Given the description of an element on the screen output the (x, y) to click on. 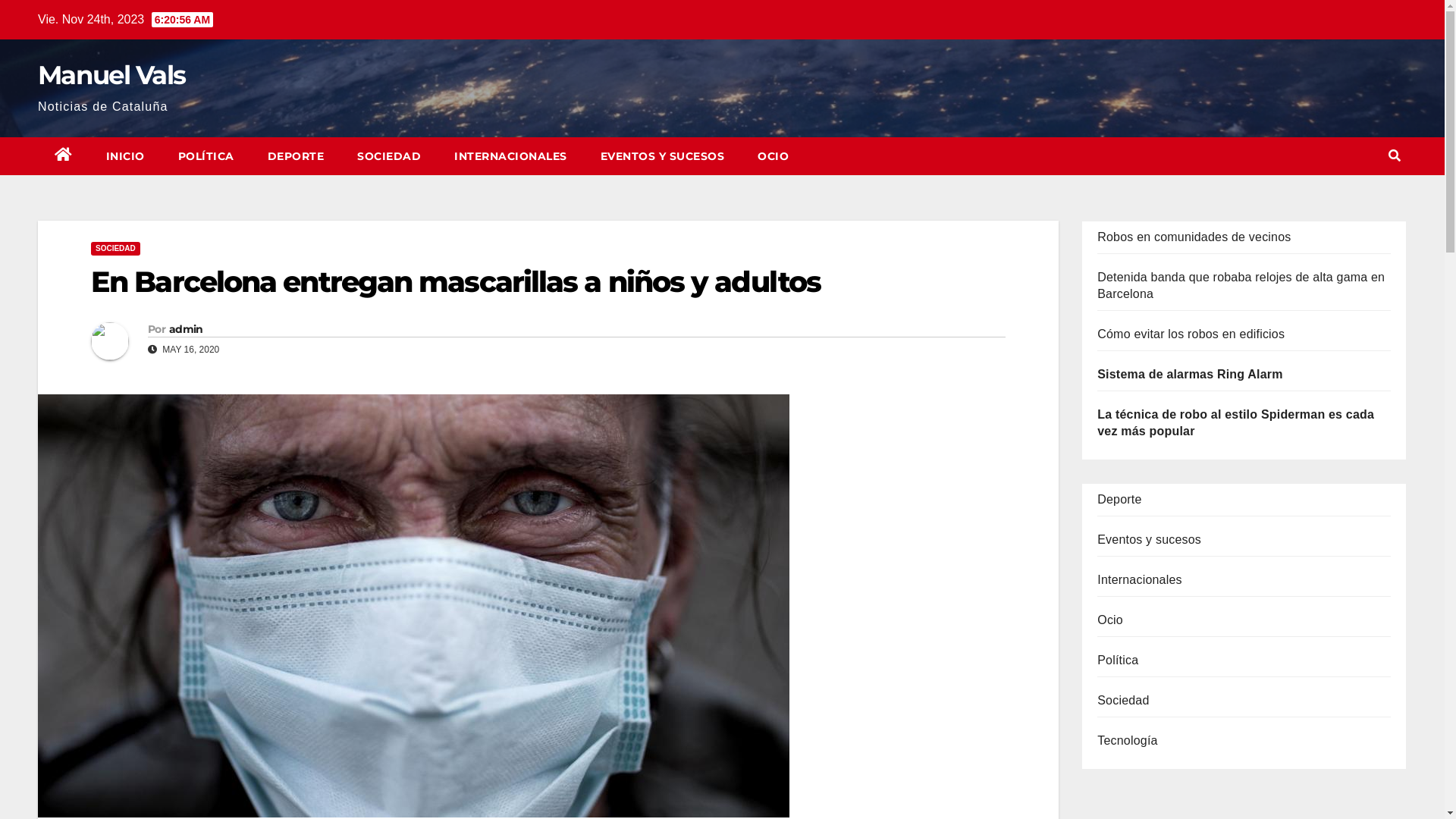
INTERNACIONALES Element type: text (510, 156)
Sociedad Element type: text (1122, 699)
Deporte Element type: text (1119, 498)
Robos en comunidades de vecinos Element type: text (1193, 236)
EVENTOS Y SUCESOS Element type: text (662, 156)
INICIO Element type: text (125, 156)
OCIO Element type: text (772, 156)
SOCIEDAD Element type: text (388, 156)
SOCIEDAD Element type: text (115, 248)
admin Element type: text (186, 328)
Eventos y sucesos Element type: text (1149, 539)
DEPORTE Element type: text (295, 156)
Ocio Element type: text (1110, 619)
Manuel Vals Element type: text (111, 75)
Sistema de alarmas Ring Alarm Element type: text (1189, 373)
Detenida banda que robaba relojes de alta gama en Barcelona Element type: text (1240, 285)
Internacionales Element type: text (1139, 579)
